Given the description of an element on the screen output the (x, y) to click on. 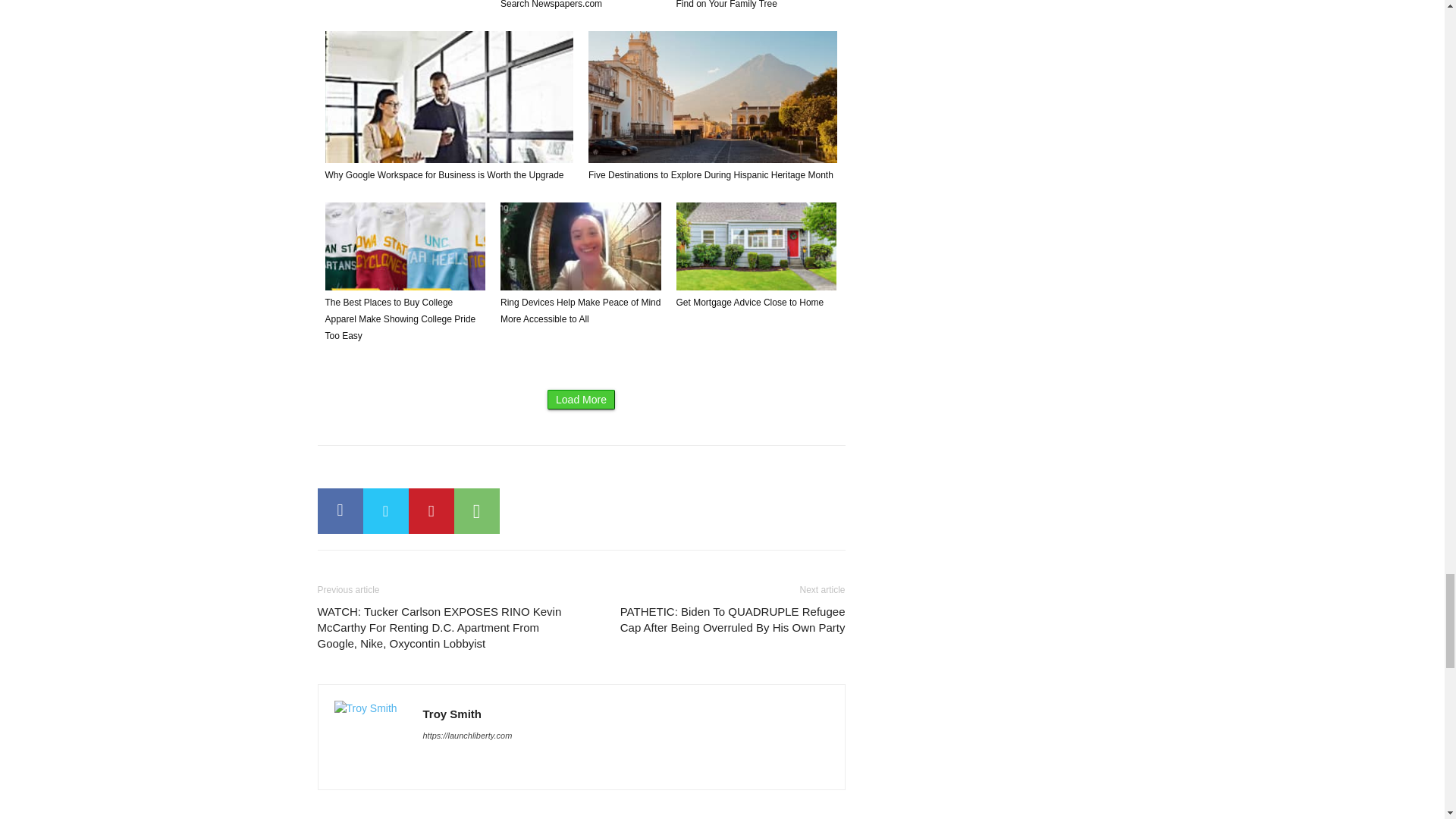
WhatsApp (475, 510)
bottomFacebookLike (430, 469)
Facebook (339, 510)
Pinterest (429, 510)
Twitter (384, 510)
